Given the description of an element on the screen output the (x, y) to click on. 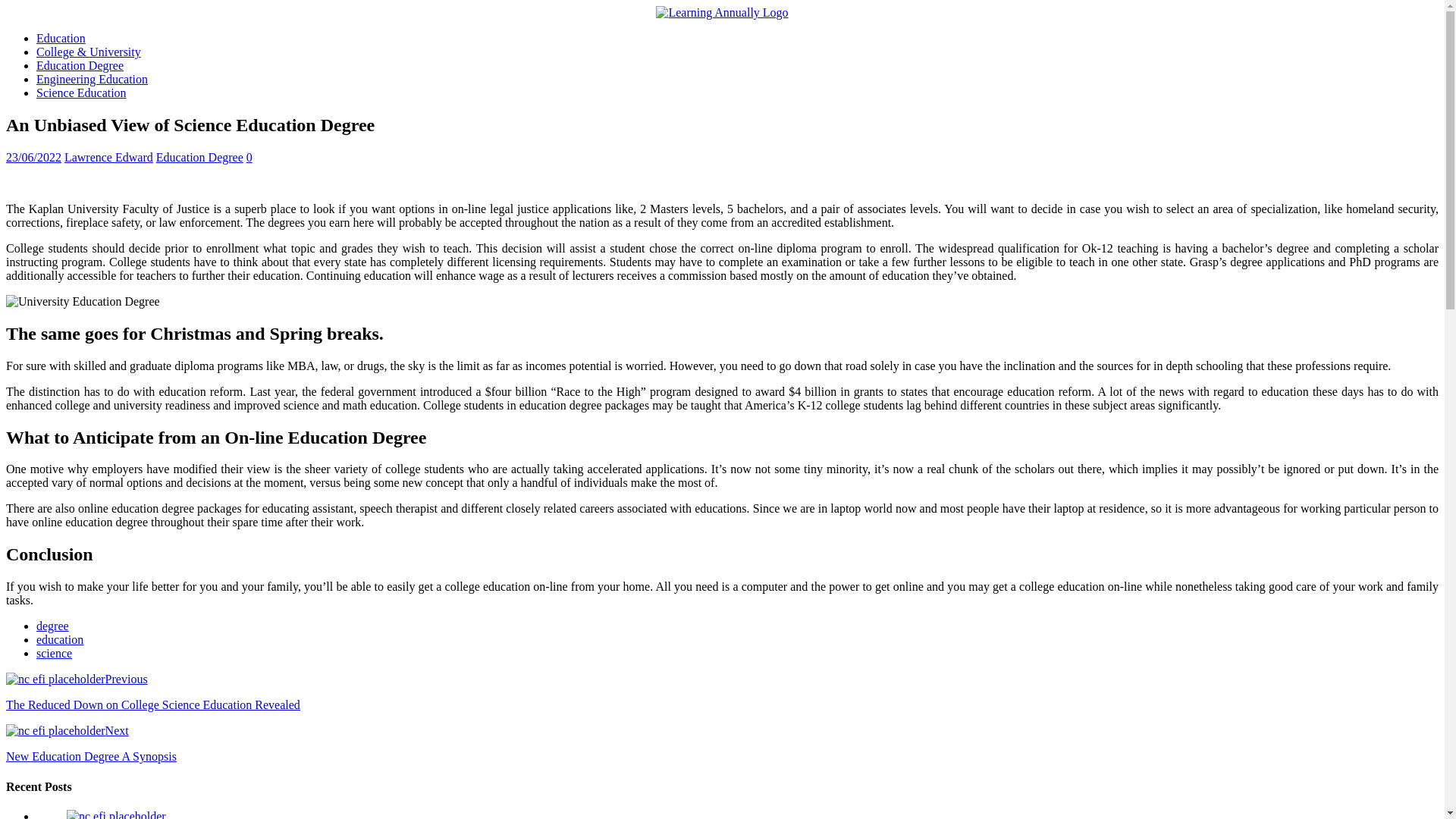
Lawrence Edward (108, 156)
Education (60, 38)
Science Education (81, 92)
The Impactful Role of a School Counselor (115, 814)
Engineering Education (92, 78)
Education Degree (79, 65)
degree (52, 625)
science (53, 653)
New Education Degree A Synopsis (54, 730)
The Reduced Down on College Science Education Revealed (54, 679)
0 (248, 156)
Education Degree (199, 156)
0 (248, 156)
education (59, 639)
The Impactful Role of a School Counselor (115, 814)
